Given the description of an element on the screen output the (x, y) to click on. 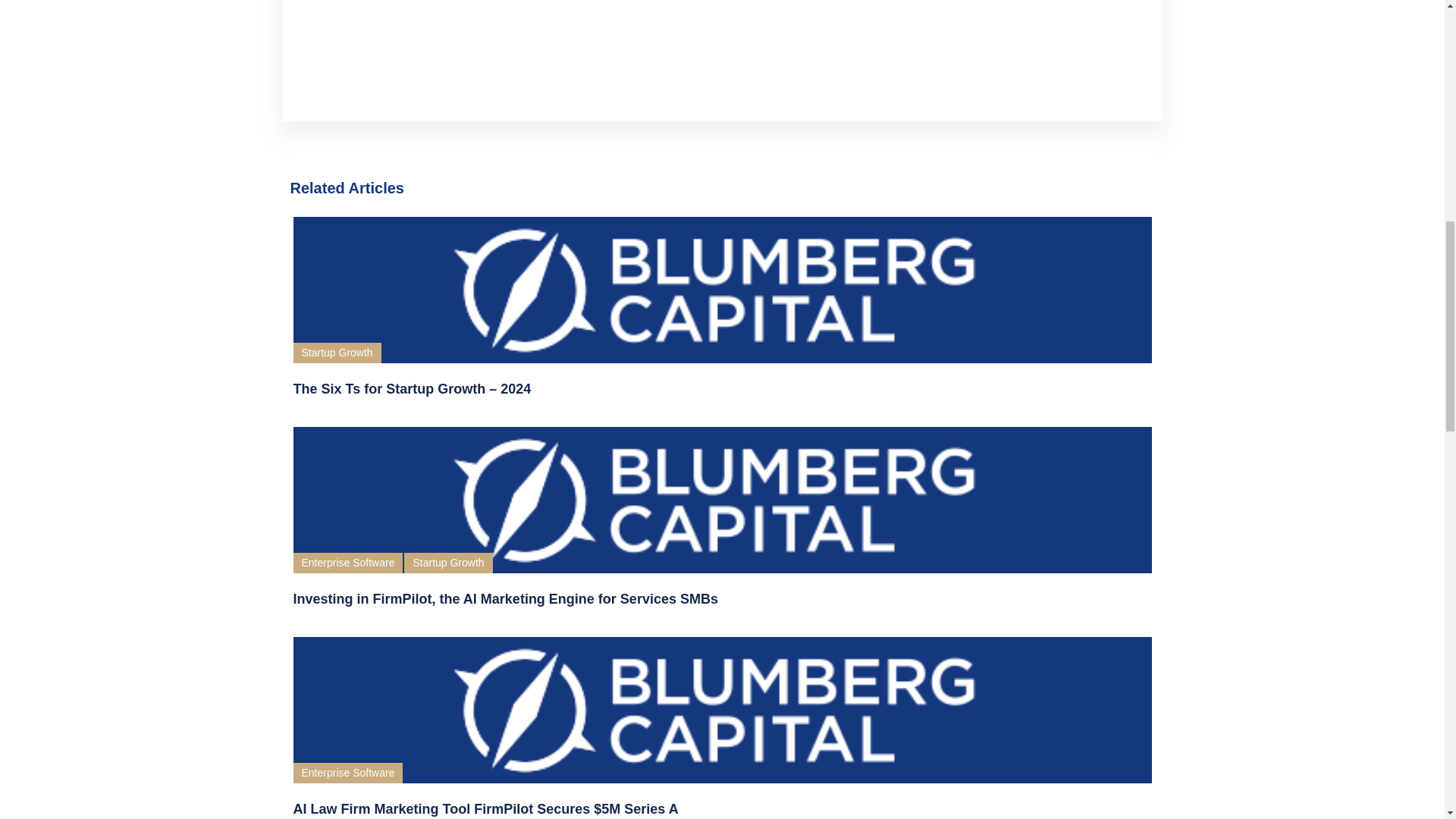
Enterprise Software (347, 562)
Startup Growth (448, 562)
Enterprise Software (347, 772)
Startup Growth (336, 353)
